Given the description of an element on the screen output the (x, y) to click on. 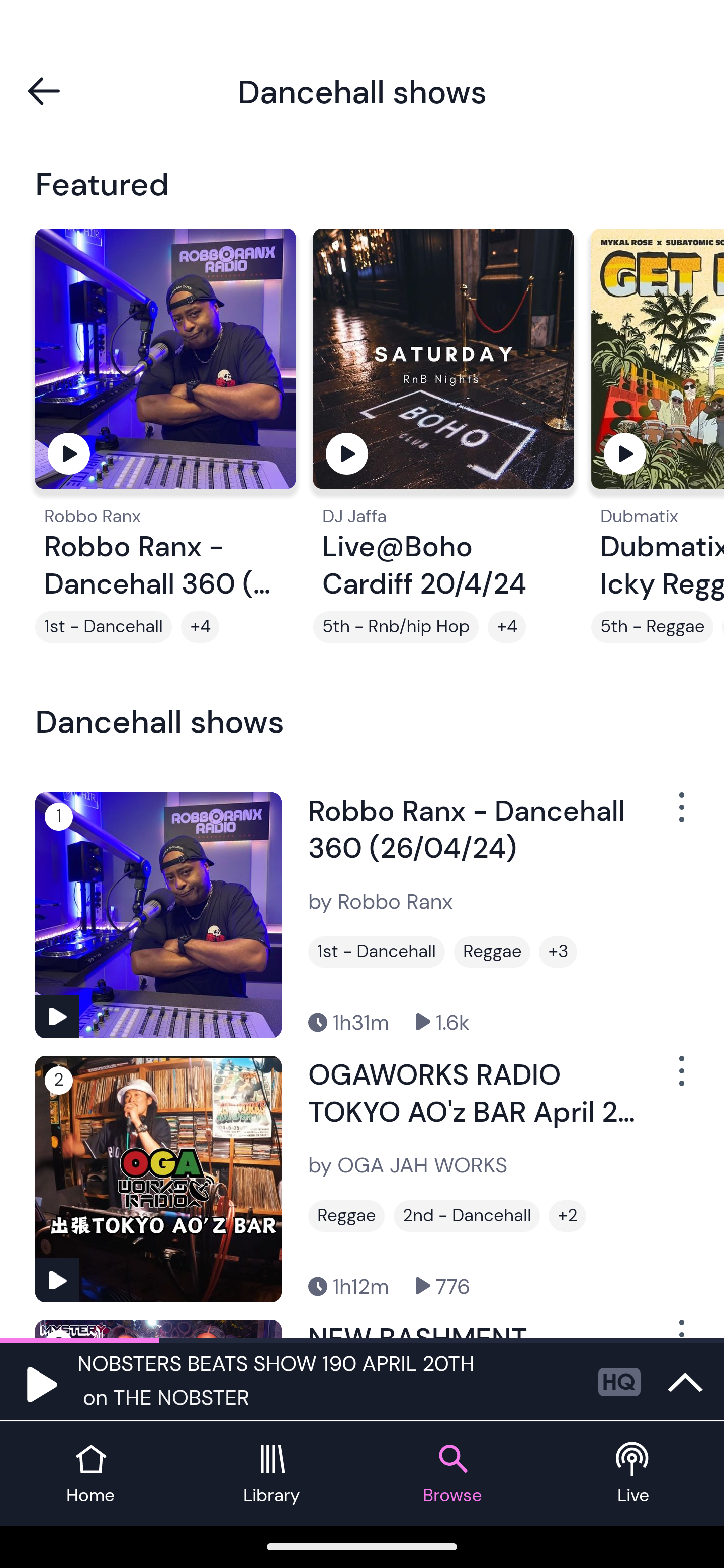
1st - Dancehall (103, 626)
5th - Rnb/hip Hop (395, 626)
5th - Reggae (652, 626)
Show Options Menu Button (679, 814)
1st - Dancehall (376, 951)
Reggae (491, 951)
Show Options Menu Button (679, 1078)
Reggae (346, 1215)
2nd - Dancehall (466, 1215)
Home tab Home (90, 1473)
Library tab Library (271, 1473)
Browse tab Browse (452, 1473)
Live tab Live (633, 1473)
